Given the description of an element on the screen output the (x, y) to click on. 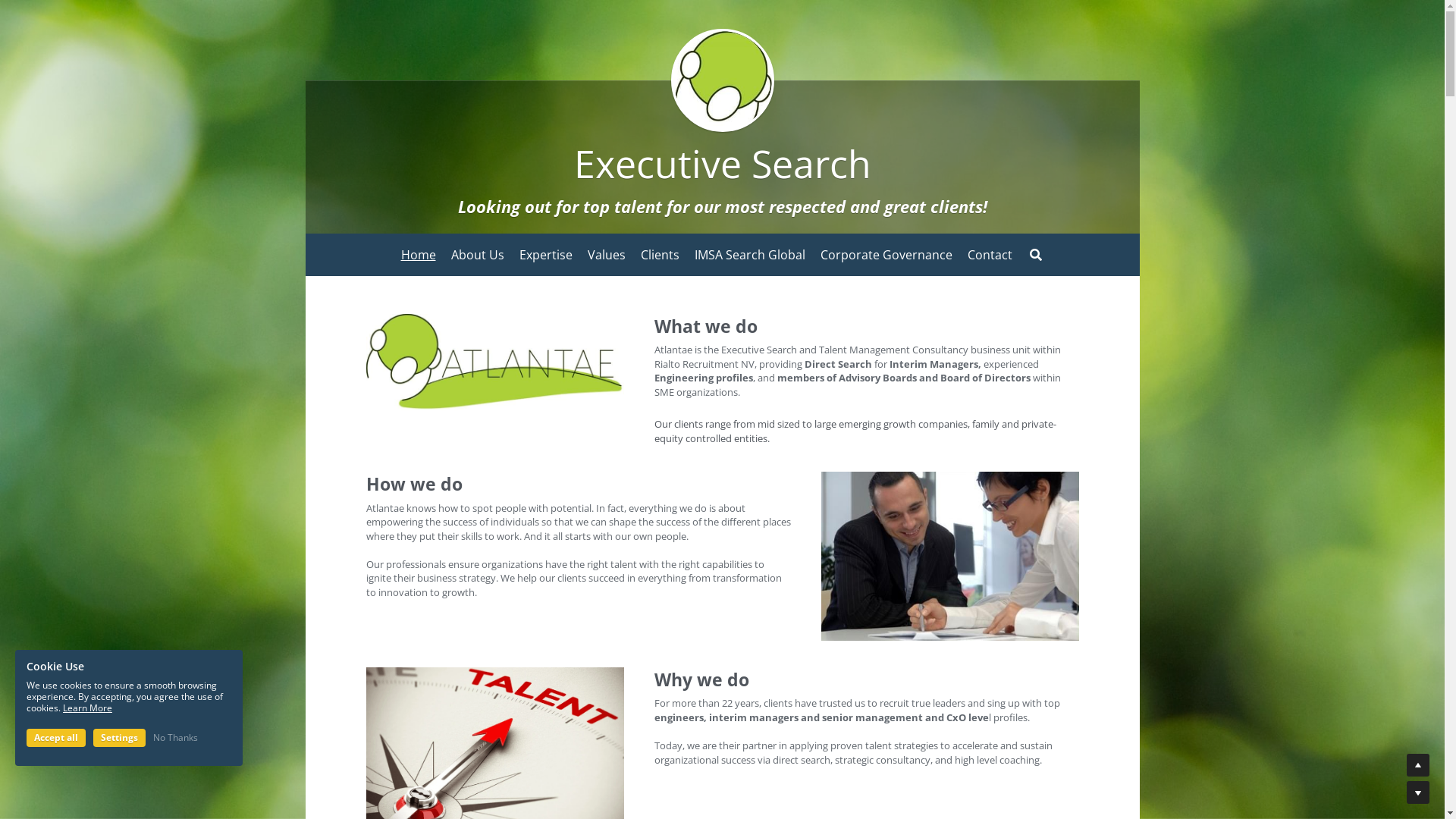
Learn More Element type: text (87, 707)
Clients Element type: text (659, 254)
Corporate Governance Element type: text (886, 254)
Contact Element type: text (989, 254)
About Us Element type: text (476, 254)
Expertise Element type: text (544, 254)
Values Element type: text (605, 254)
IMSA Search Global Element type: text (749, 254)
Home Element type: text (417, 254)
